Given the description of an element on the screen output the (x, y) to click on. 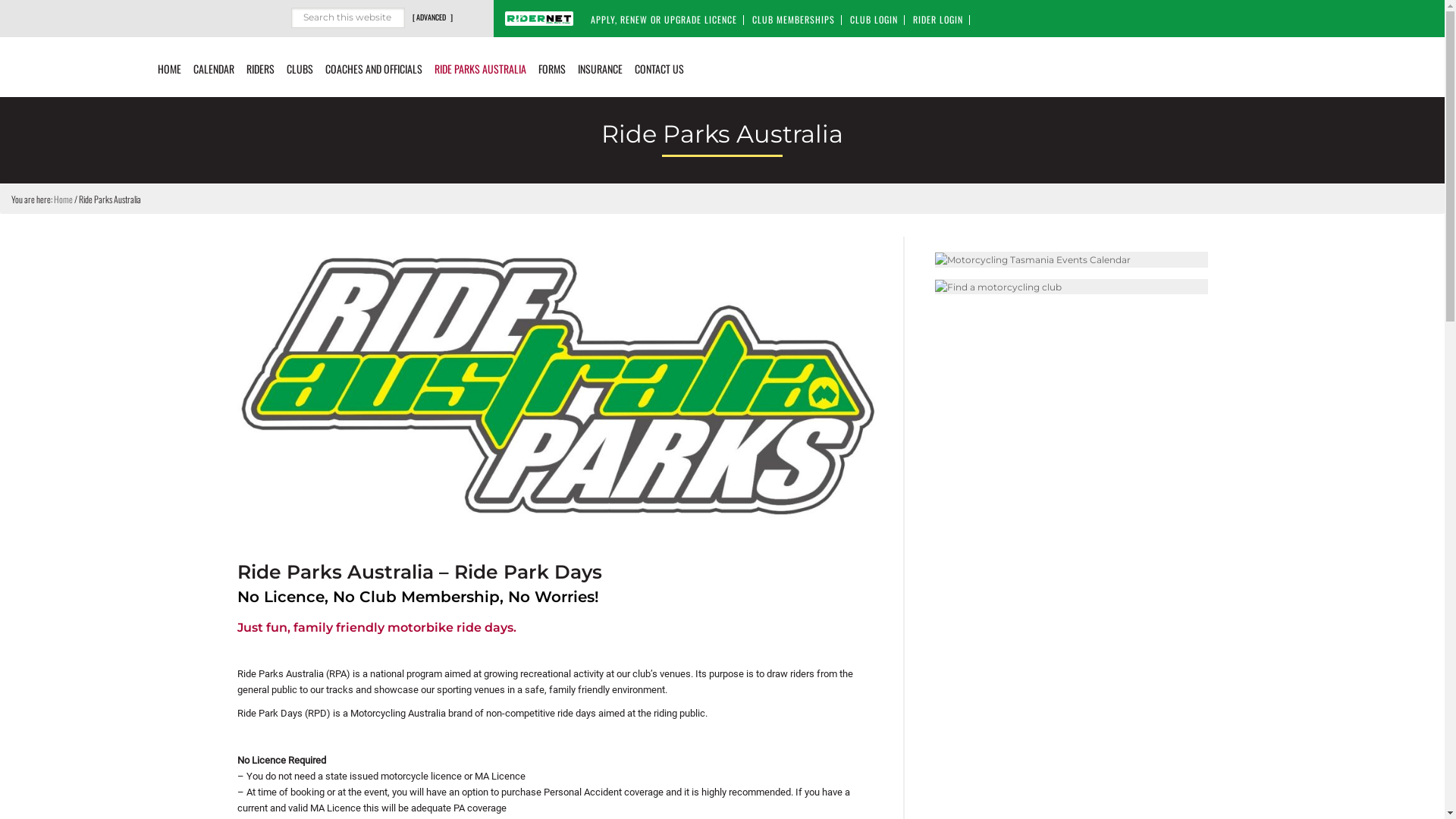
Skip to primary navigation Element type: text (0, 0)
RIDER LOGIN Element type: text (938, 18)
CONTACT US Element type: text (659, 67)
CLUBS Element type: text (299, 67)
Search Element type: text (404, 6)
COACHES AND OFFICIALS Element type: text (373, 67)
FORMS Element type: text (551, 67)
Home Element type: text (62, 198)
HOME Element type: text (169, 67)
RIDE PARKS AUSTRALIA Element type: text (480, 67)
Motorcycling Tasmania Element type: text (71, 65)
CLUB MEMBERSHIPS Element type: text (793, 18)
APPLY, RENEW OR UPGRADE LICENCE Element type: text (663, 18)
[ ADVANCED ] Element type: text (432, 16)
INSURANCE Element type: text (599, 67)
CLUB LOGIN Element type: text (873, 18)
RIDERS Element type: text (260, 67)
CALENDAR Element type: text (213, 67)
